Given the description of an element on the screen output the (x, y) to click on. 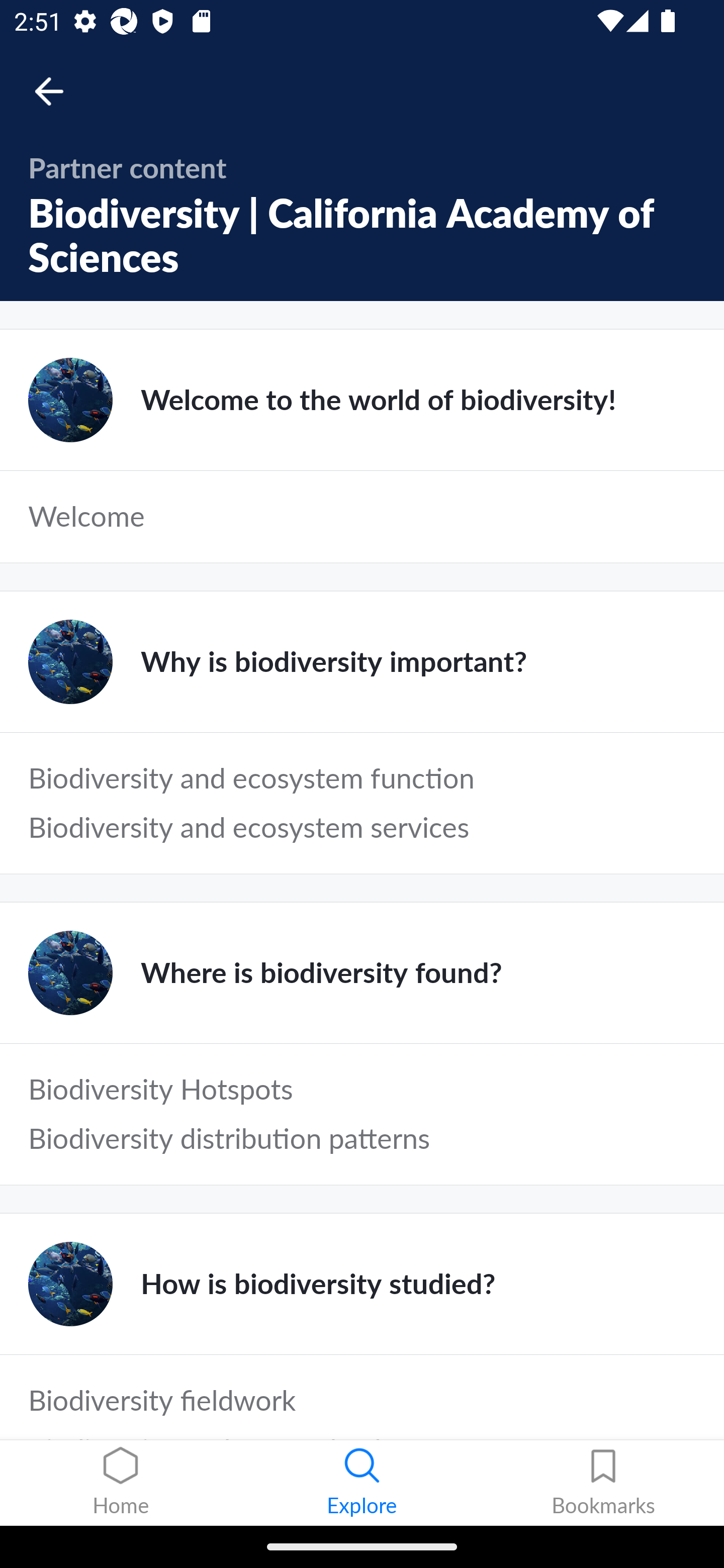
Back (58, 91)
Welcome to the world of biodiversity! (362, 399)
Welcome  (362, 516)
Why is biodiversity important? (362, 661)
Where is biodiversity found? (362, 972)
How is biodiversity studied? (362, 1283)
Home (120, 1482)
Explore (361, 1482)
Bookmarks (603, 1482)
